Given the description of an element on the screen output the (x, y) to click on. 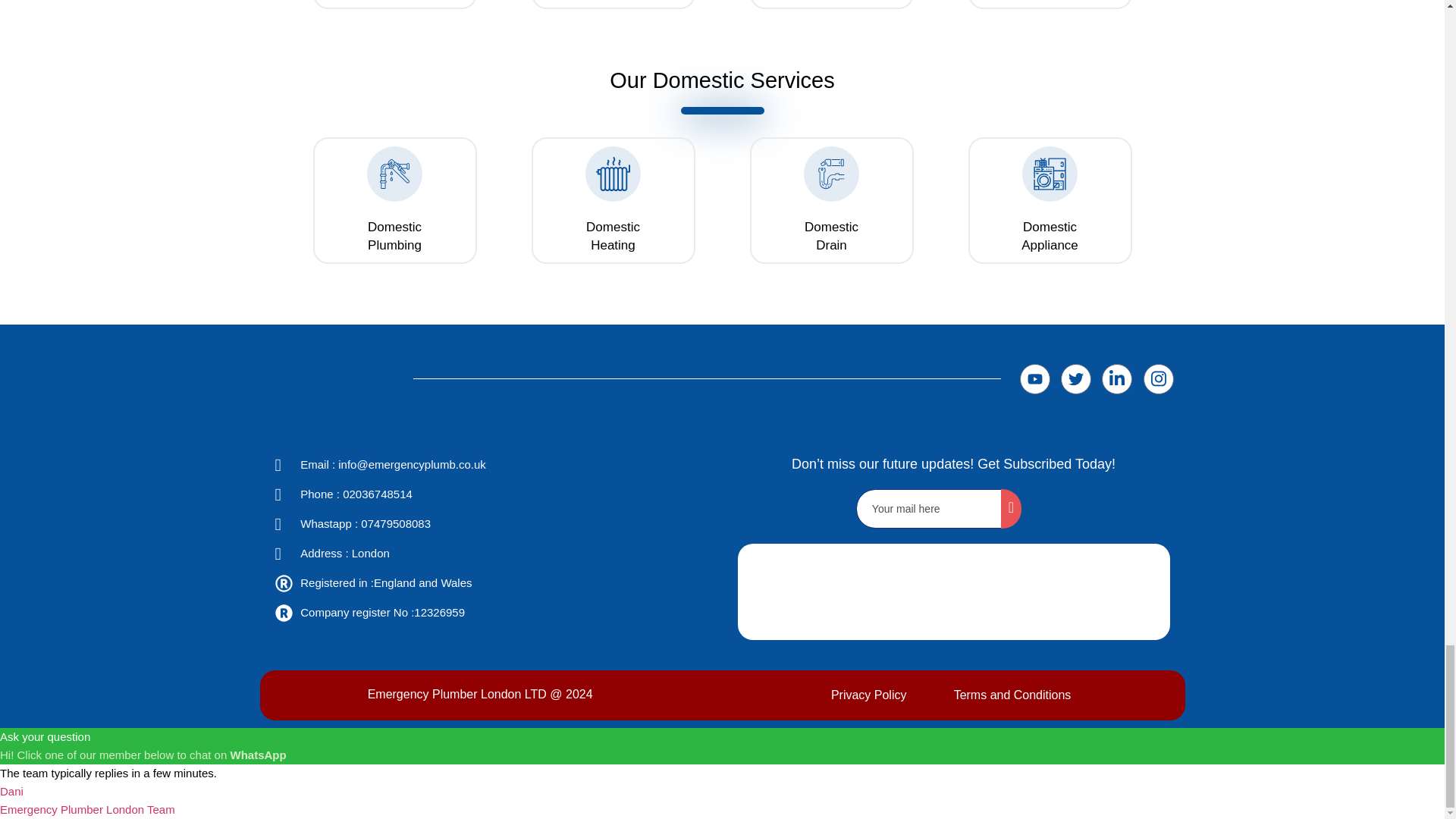
logo (1088, 591)
